Given the description of an element on the screen output the (x, y) to click on. 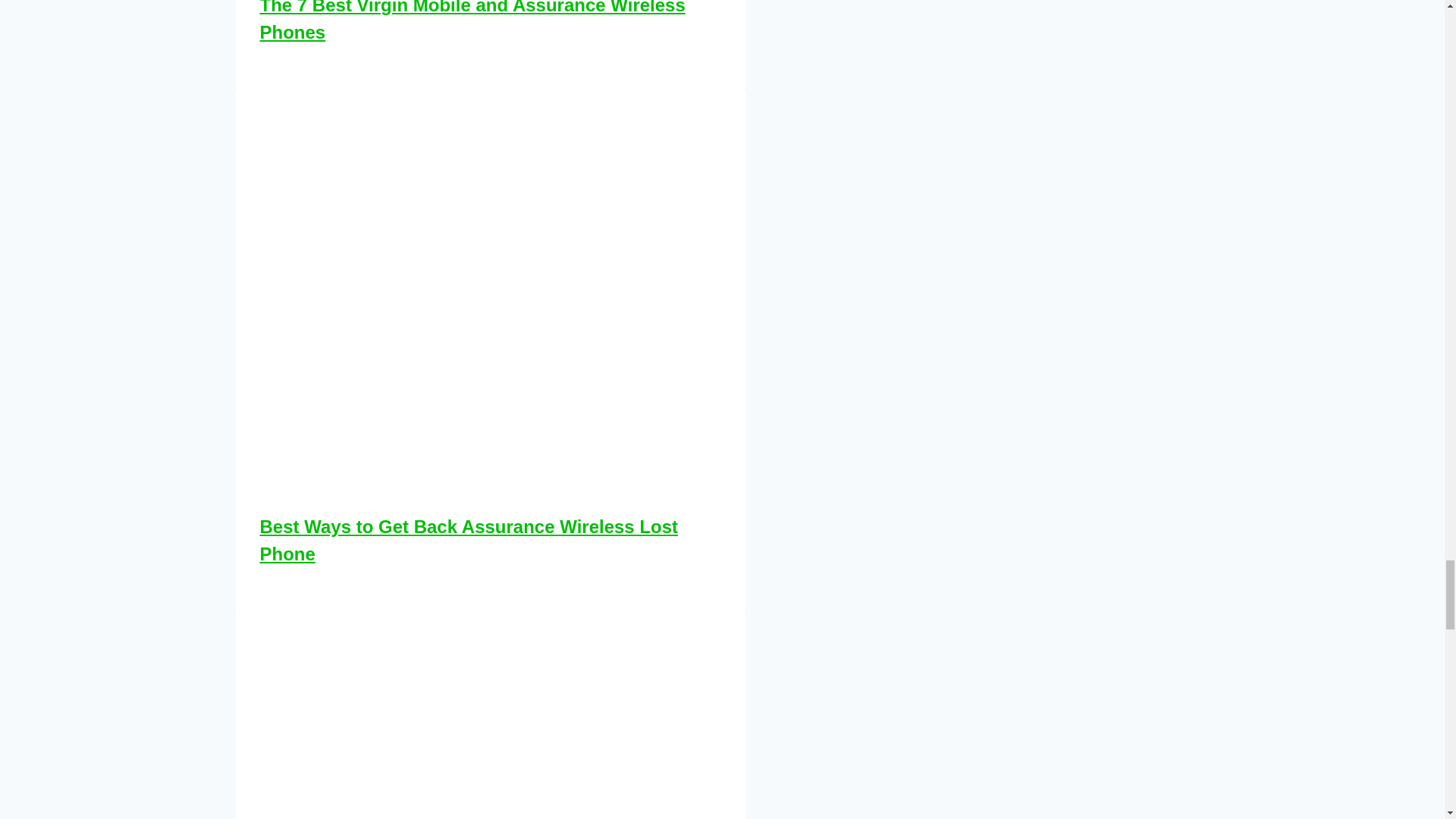
The 7 Best Virgin Mobile and Assurance Wireless Phones (471, 21)
Best Ways to Get Back Assurance Wireless Lost Phone (468, 540)
